Given the description of an element on the screen output the (x, y) to click on. 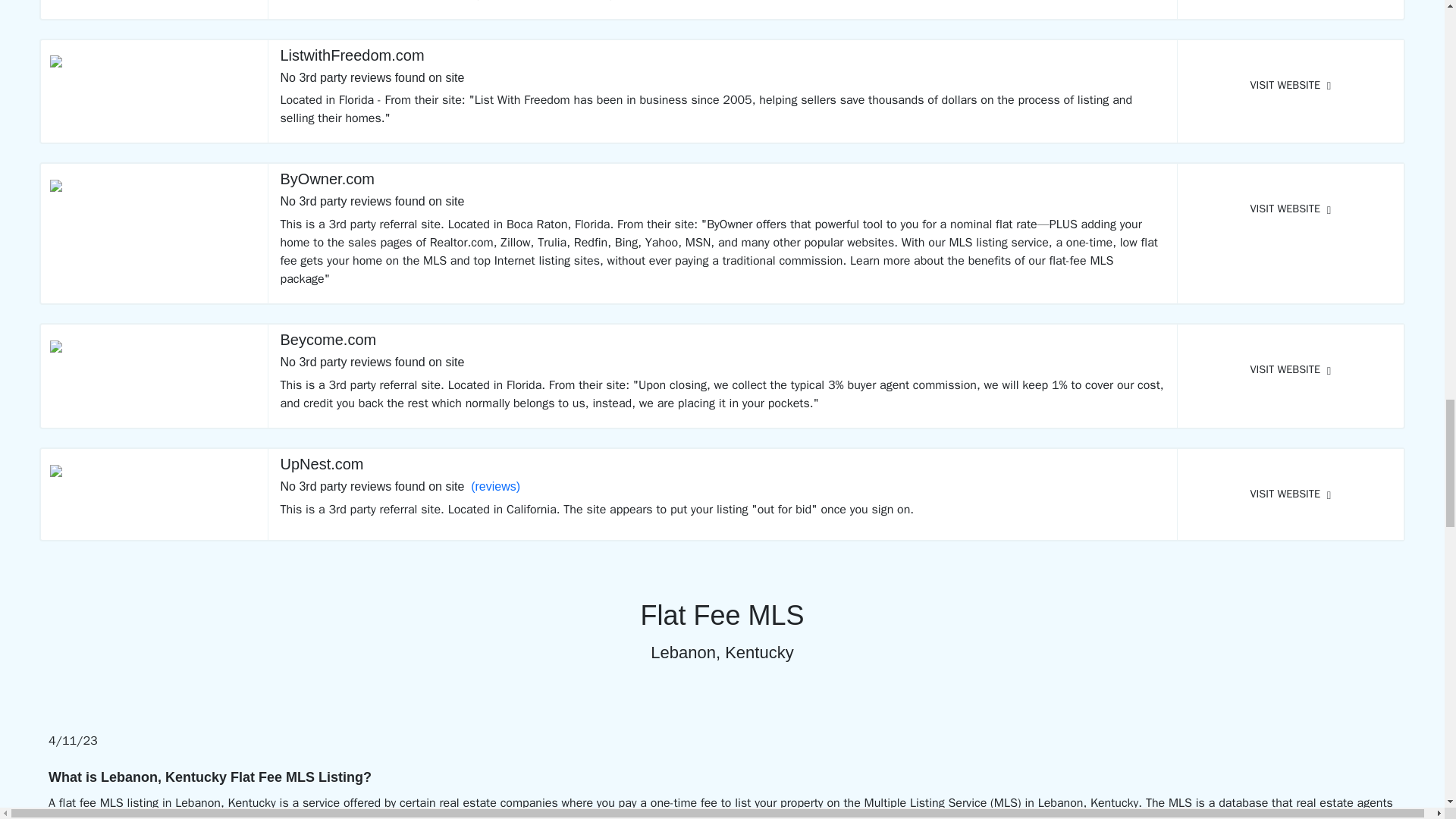
VISIT WEBSITE   (1290, 370)
VISIT WEBSITE   (1290, 208)
VISIT WEBSITE   (1290, 493)
VISIT WEBSITE   (1290, 84)
